Given the description of an element on the screen output the (x, y) to click on. 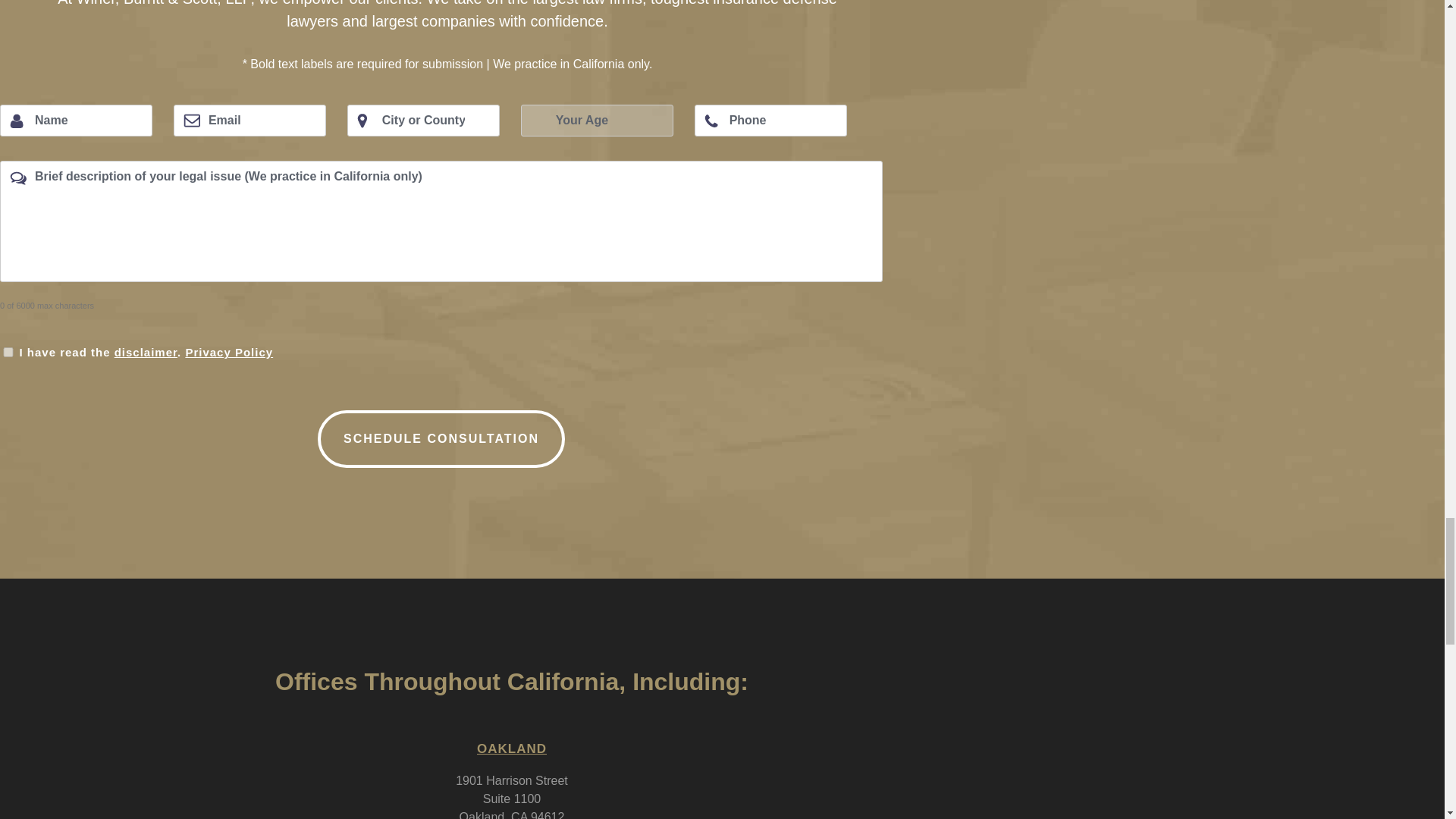
Schedule Consultation (440, 438)
